Given the description of an element on the screen output the (x, y) to click on. 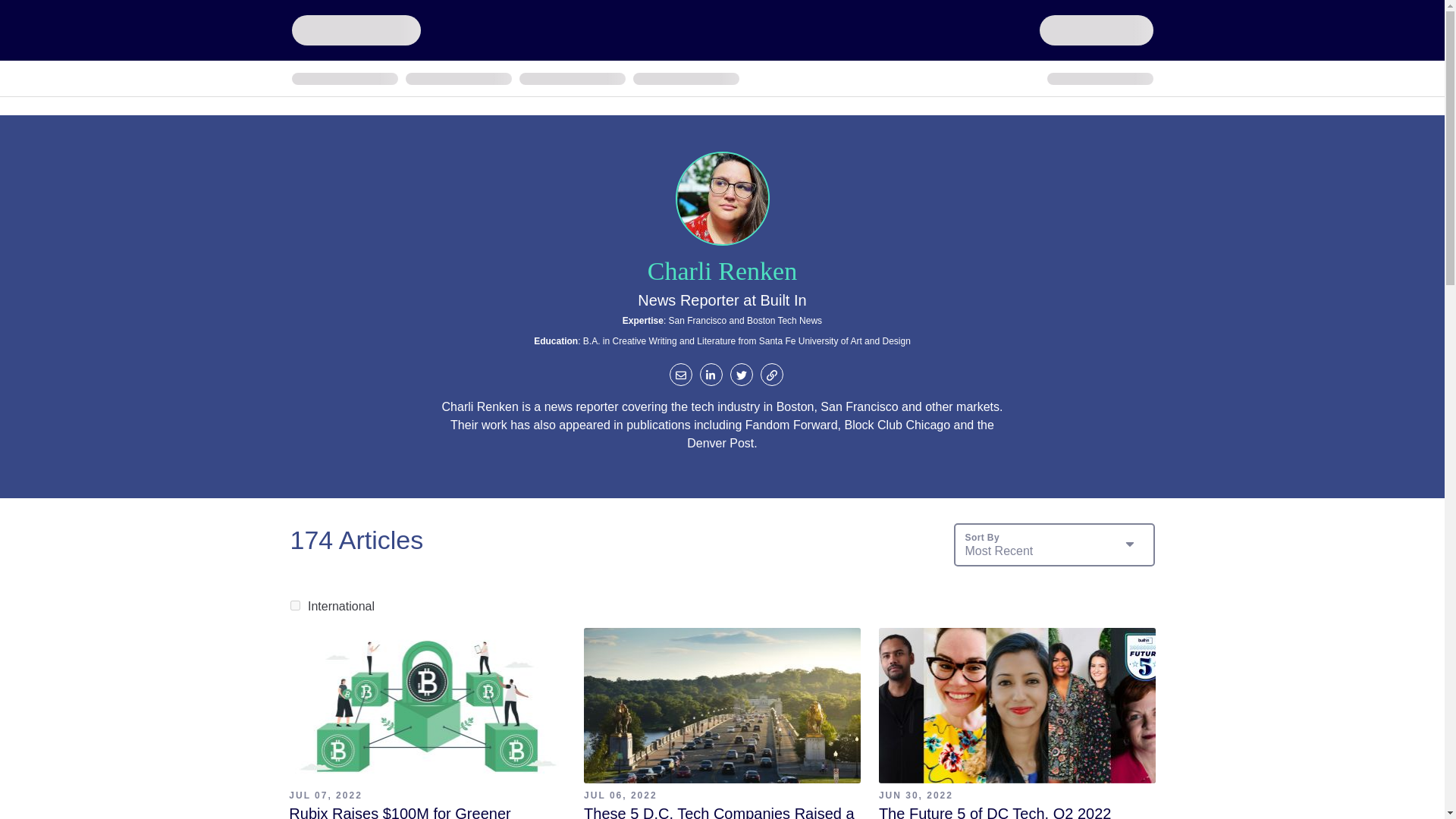
1 (294, 605)
The Future 5 of DC Tech, Q2 2022 (994, 812)
